Given the description of an element on the screen output the (x, y) to click on. 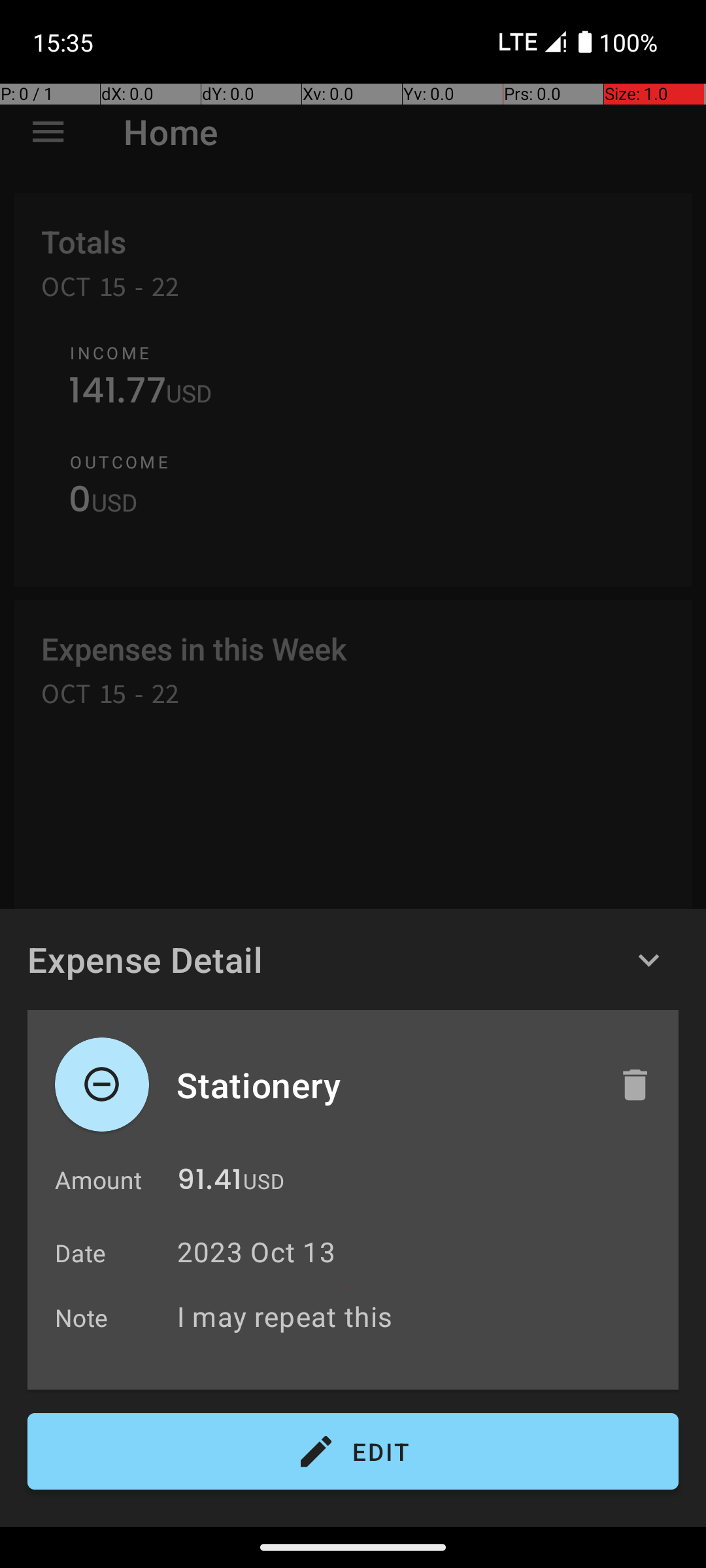
Stationery Element type: android.widget.TextView (383, 1084)
91.41 Element type: android.widget.TextView (209, 1182)
